Given the description of an element on the screen output the (x, y) to click on. 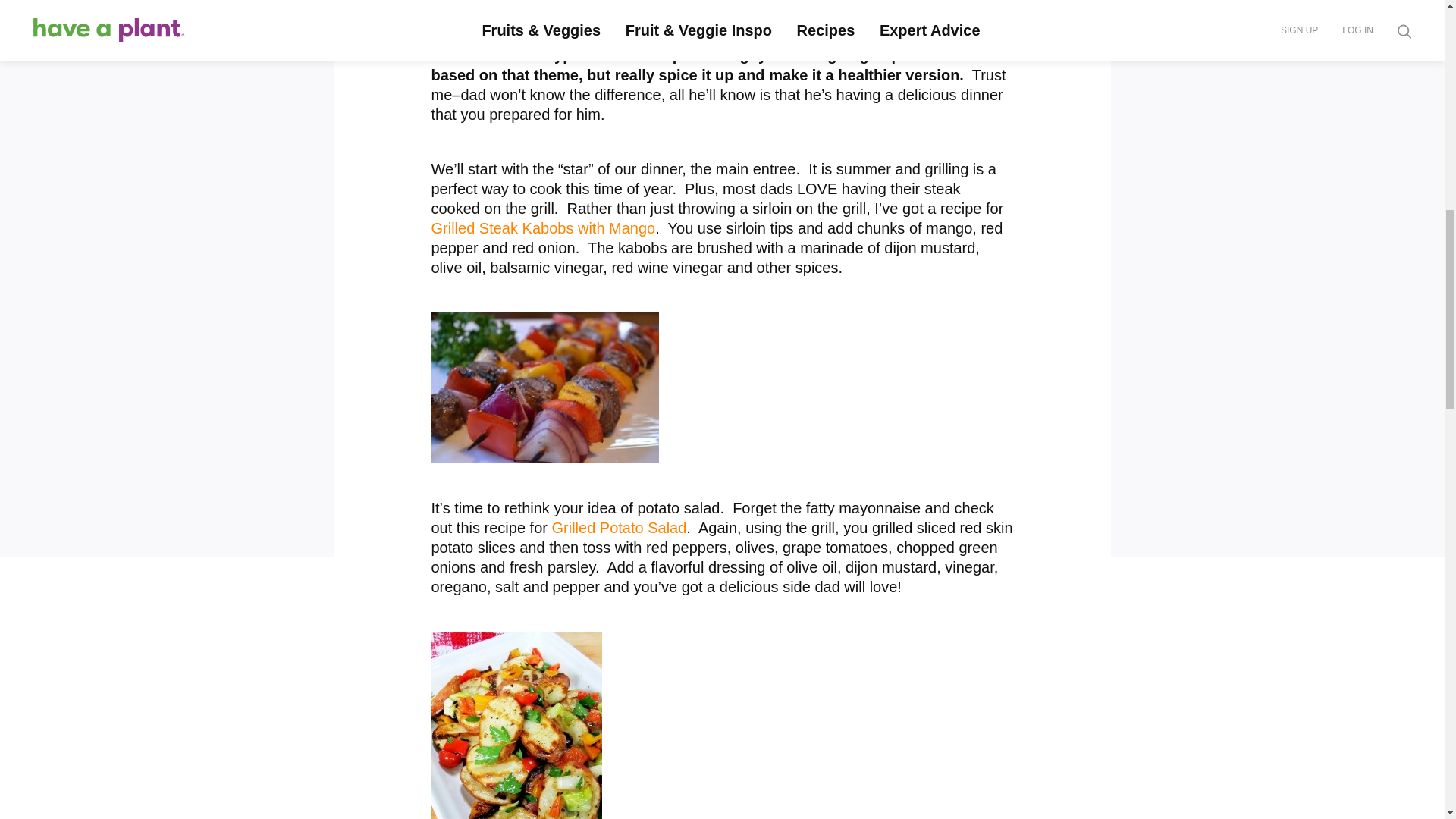
Grilled Steak Kabobs with Mango (542, 228)
Grilled Potato Salad (618, 527)
